Given the description of an element on the screen output the (x, y) to click on. 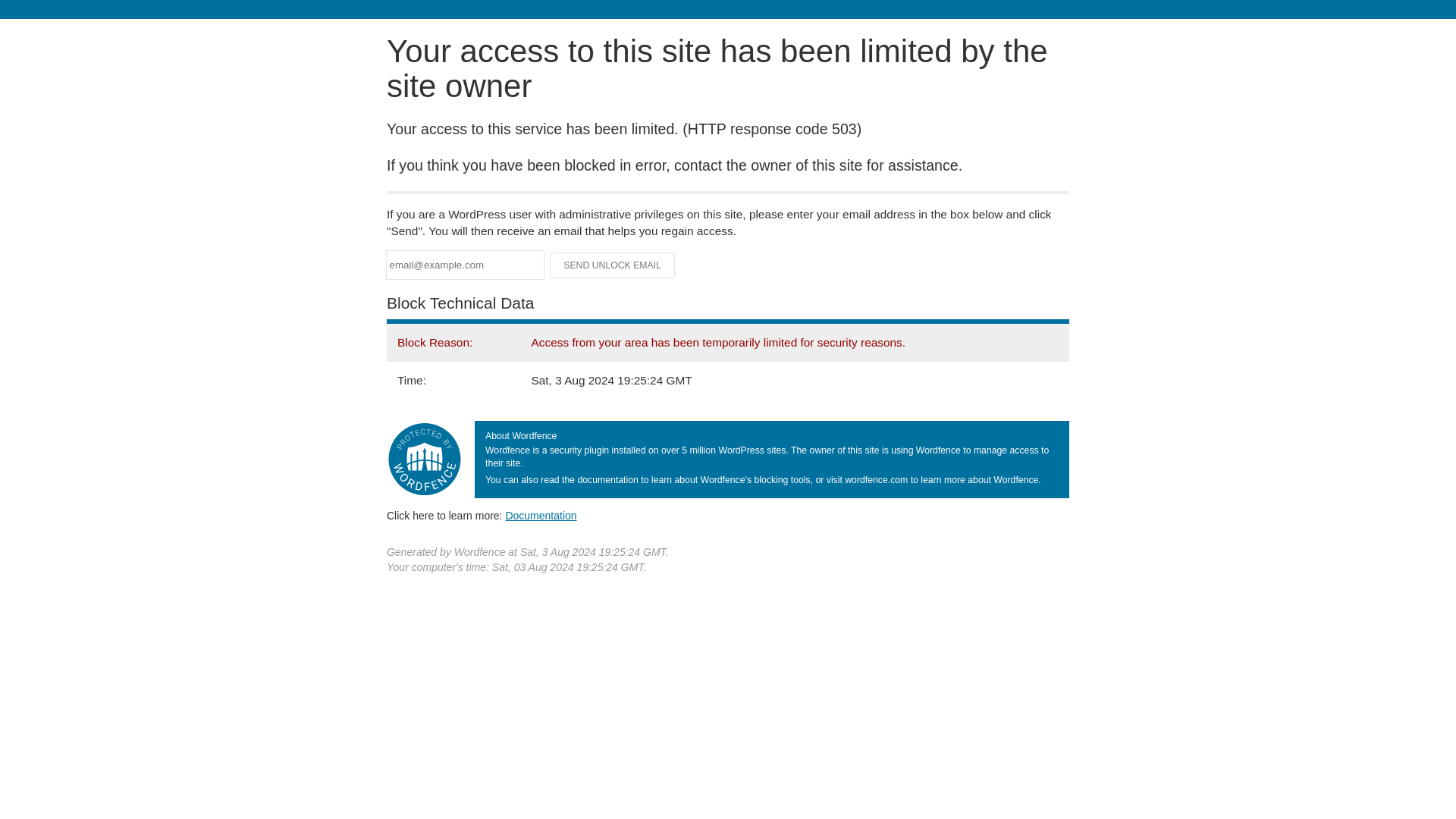
Send Unlock Email (612, 265)
Send Unlock Email (612, 265)
Documentation (540, 515)
